Given the description of an element on the screen output the (x, y) to click on. 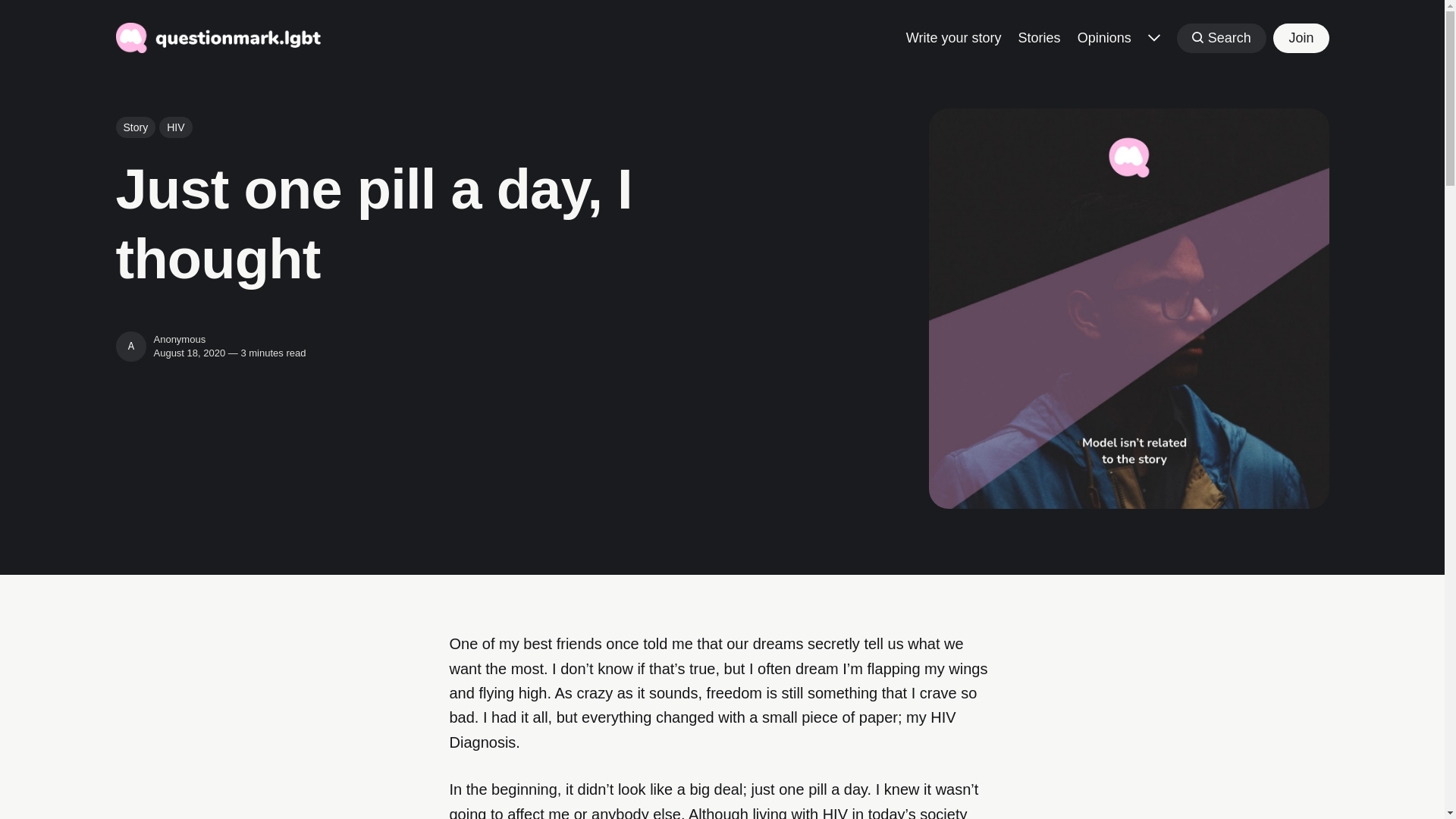
Story (135, 127)
HIV (175, 127)
Join (1299, 37)
Anonymous (130, 346)
Opinions (1104, 37)
Write your story (953, 37)
Stories (1039, 37)
Anonymous (178, 338)
